Given the description of an element on the screen output the (x, y) to click on. 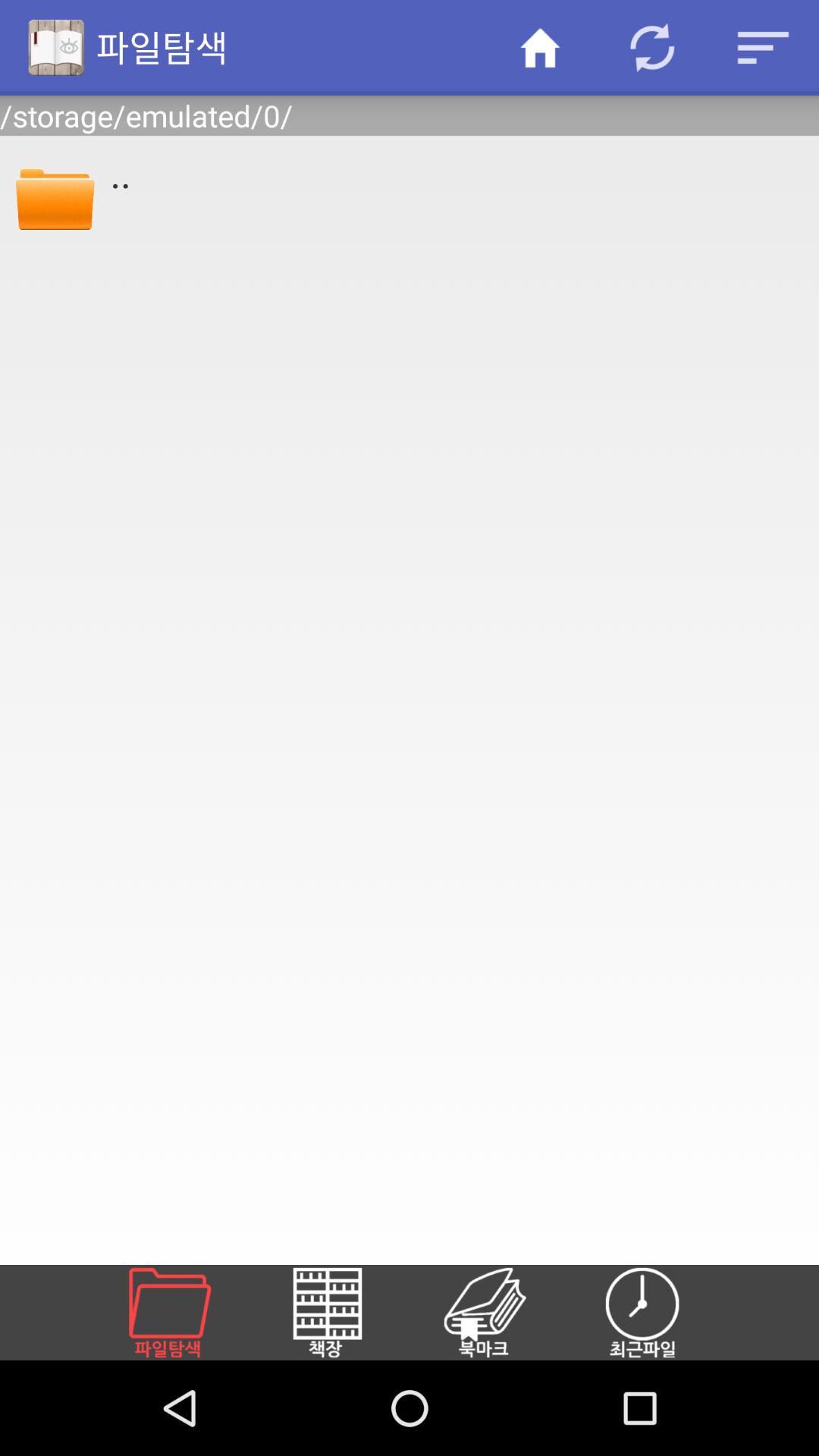
tap the icon below the .. icon (345, 1312)
